Given the description of an element on the screen output the (x, y) to click on. 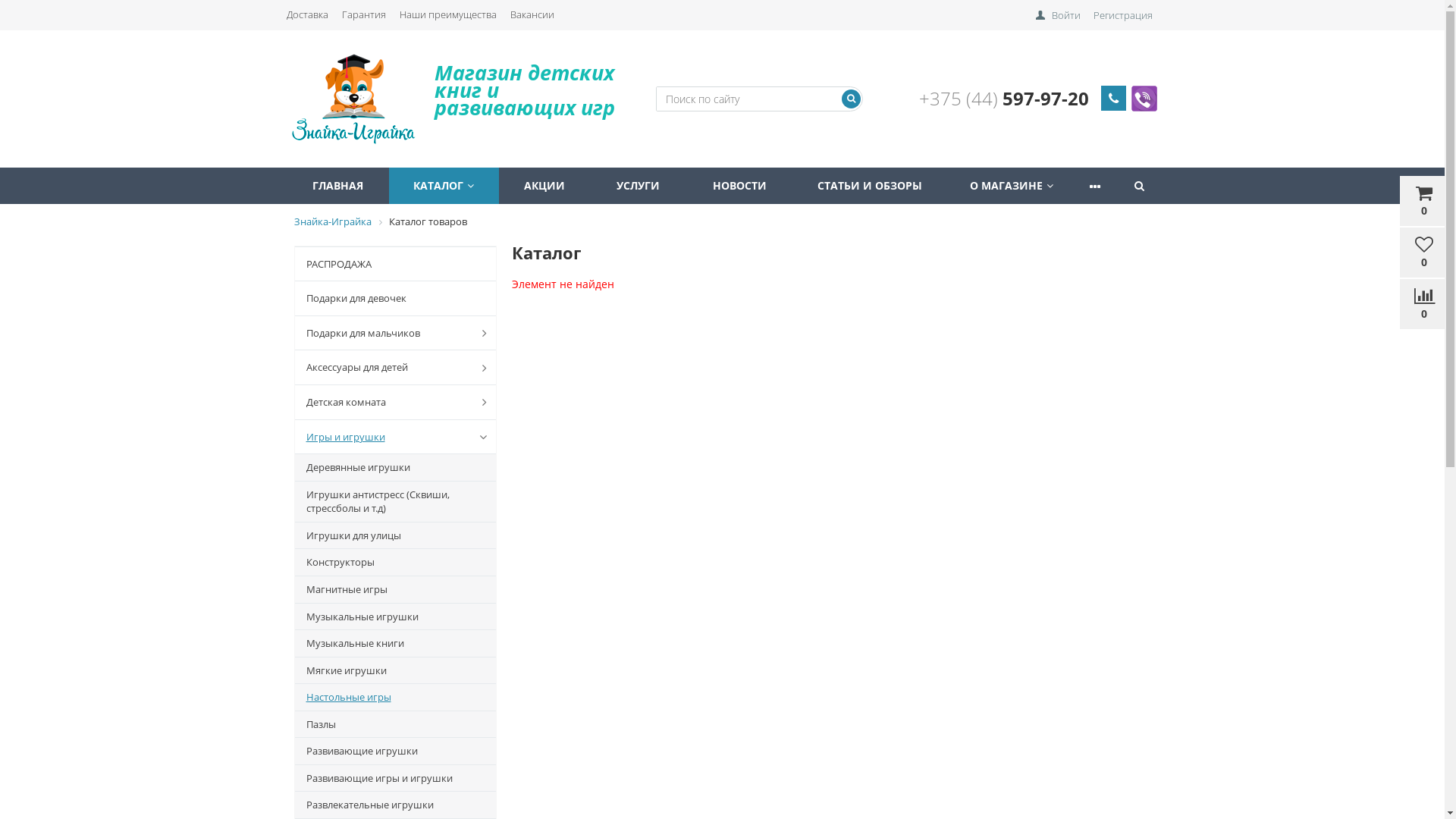
0 Element type: text (1423, 303)
0 Element type: text (1423, 252)
0 Element type: text (1423, 200)
